Given the description of an element on the screen output the (x, y) to click on. 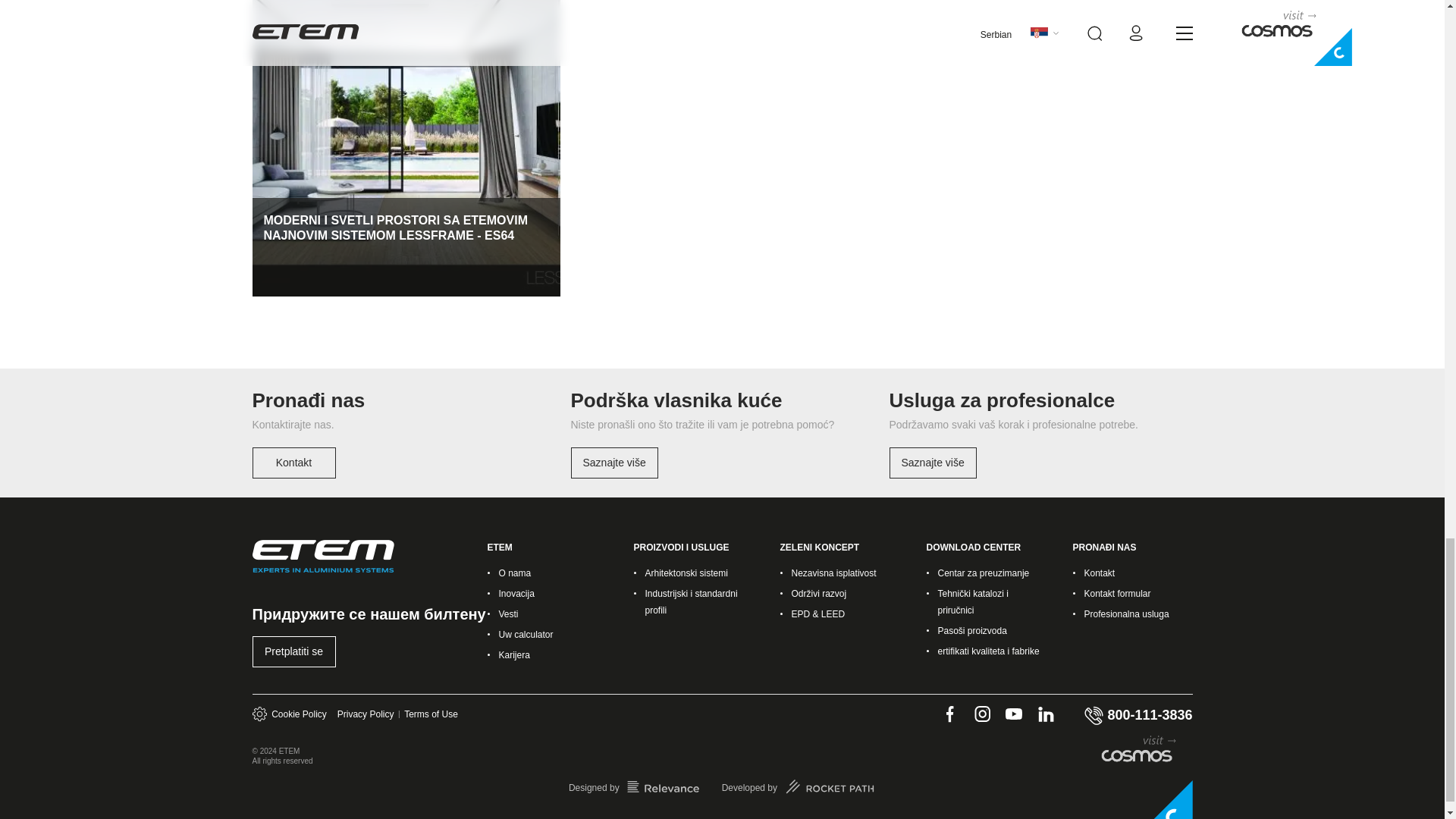
Kontakt (293, 462)
Pretplatiti se (293, 651)
